Given the description of an element on the screen output the (x, y) to click on. 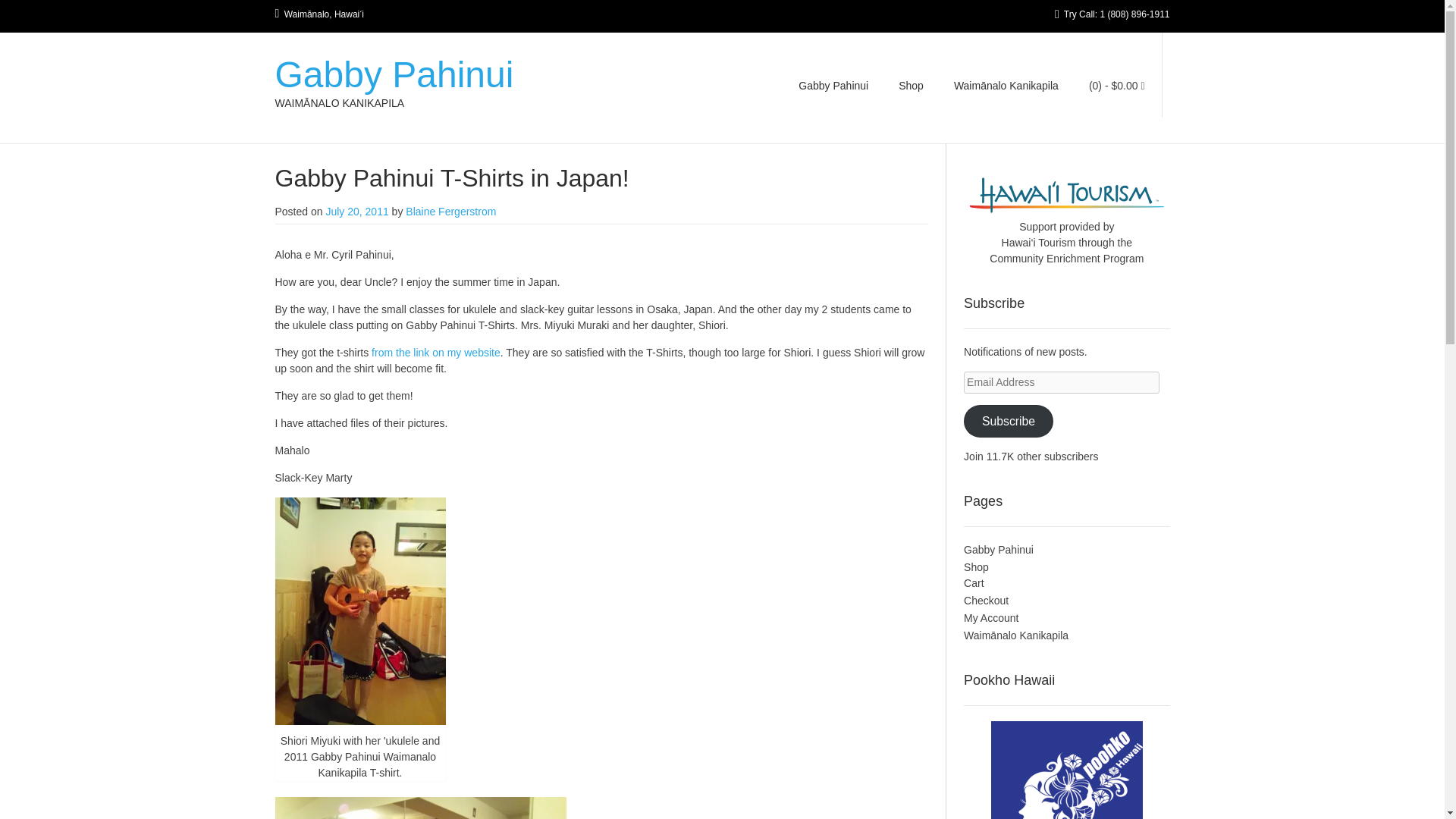
July 20, 2011 (356, 211)
View your shopping cart (1117, 85)
Gabby Pahinui (394, 74)
Blaine Fergerstrom (451, 211)
Subscribe (1007, 420)
Cart (973, 582)
Gabby Pahinui (833, 87)
Gabby Pahinui (998, 549)
from the link on my website (435, 352)
Checkout (986, 600)
